Given the description of an element on the screen output the (x, y) to click on. 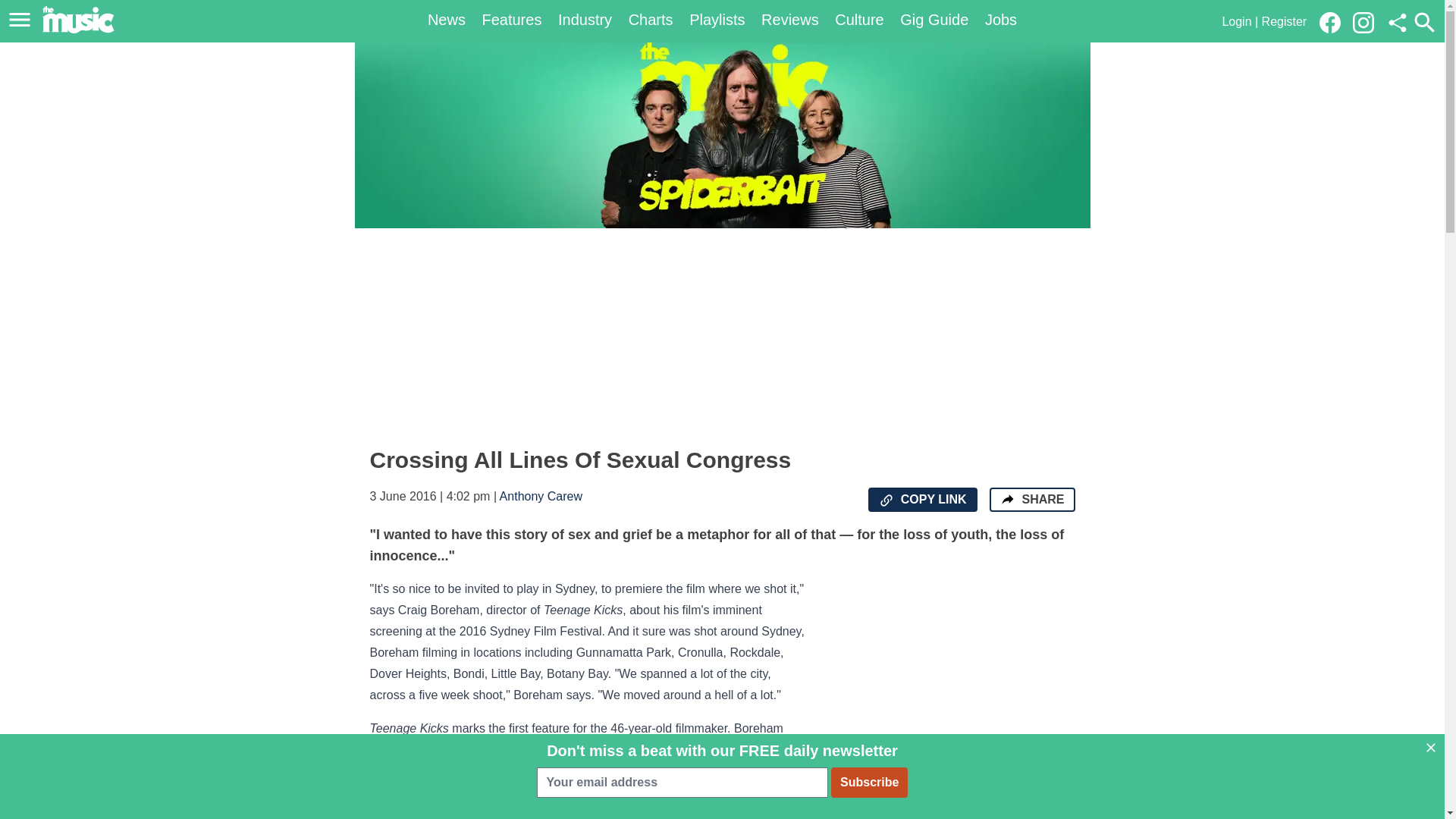
Share this page (1397, 22)
Jobs (1000, 19)
Login (1235, 21)
Register (1284, 21)
News (446, 19)
Culture (858, 19)
Share this page (1397, 22)
Open the main menu (22, 19)
Share the page SHARE (1032, 499)
Link to our Instagram (1367, 21)
Charts (650, 19)
Copy the page URL COPY LINK (921, 499)
Open the site search menu (1424, 22)
Share the page (1007, 498)
Copy the page URL (886, 500)
